Given the description of an element on the screen output the (x, y) to click on. 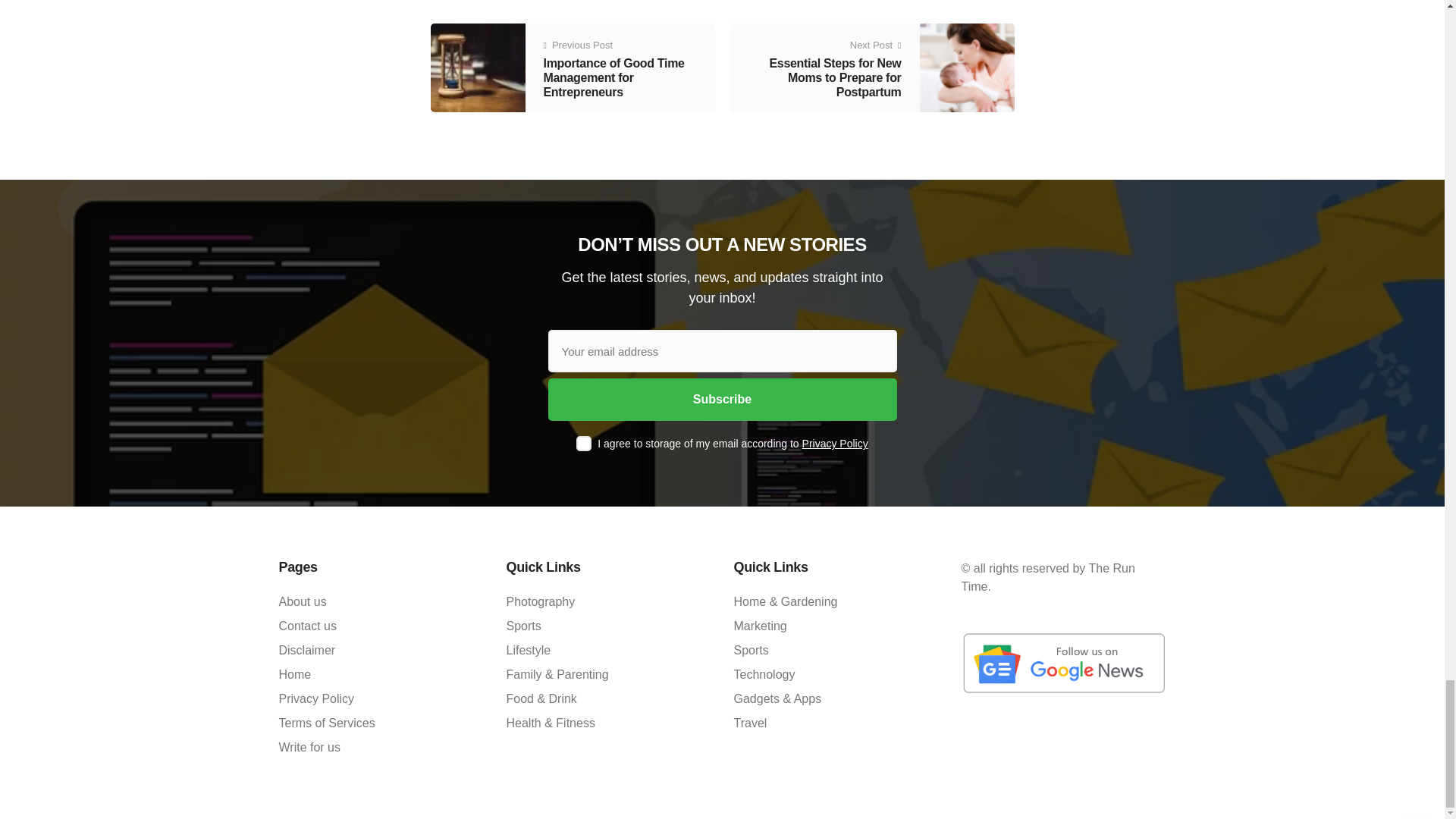
Subscribe (721, 399)
1 (583, 443)
